Given the description of an element on the screen output the (x, y) to click on. 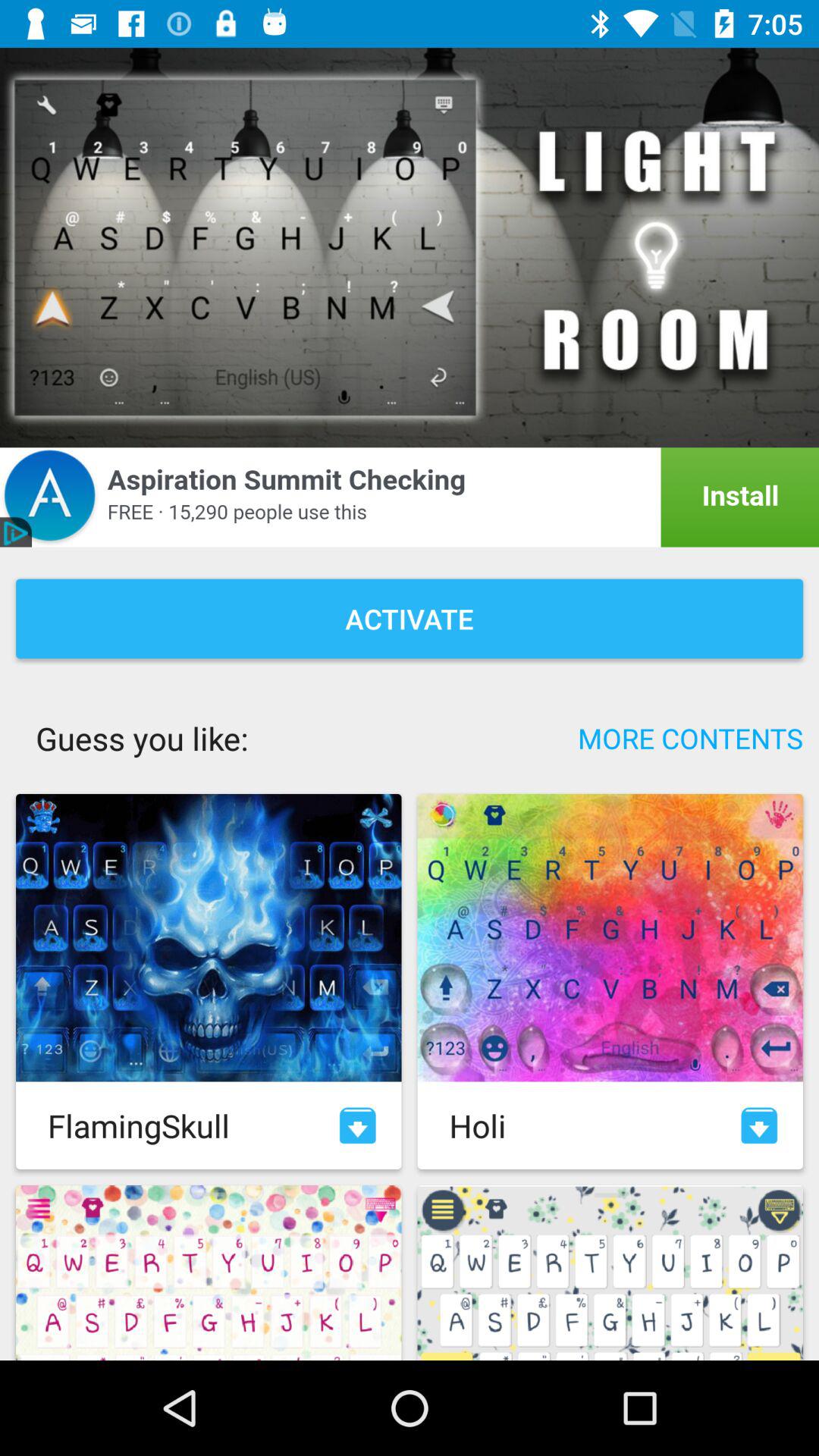
select the image above holi (610, 937)
